Given the description of an element on the screen output the (x, y) to click on. 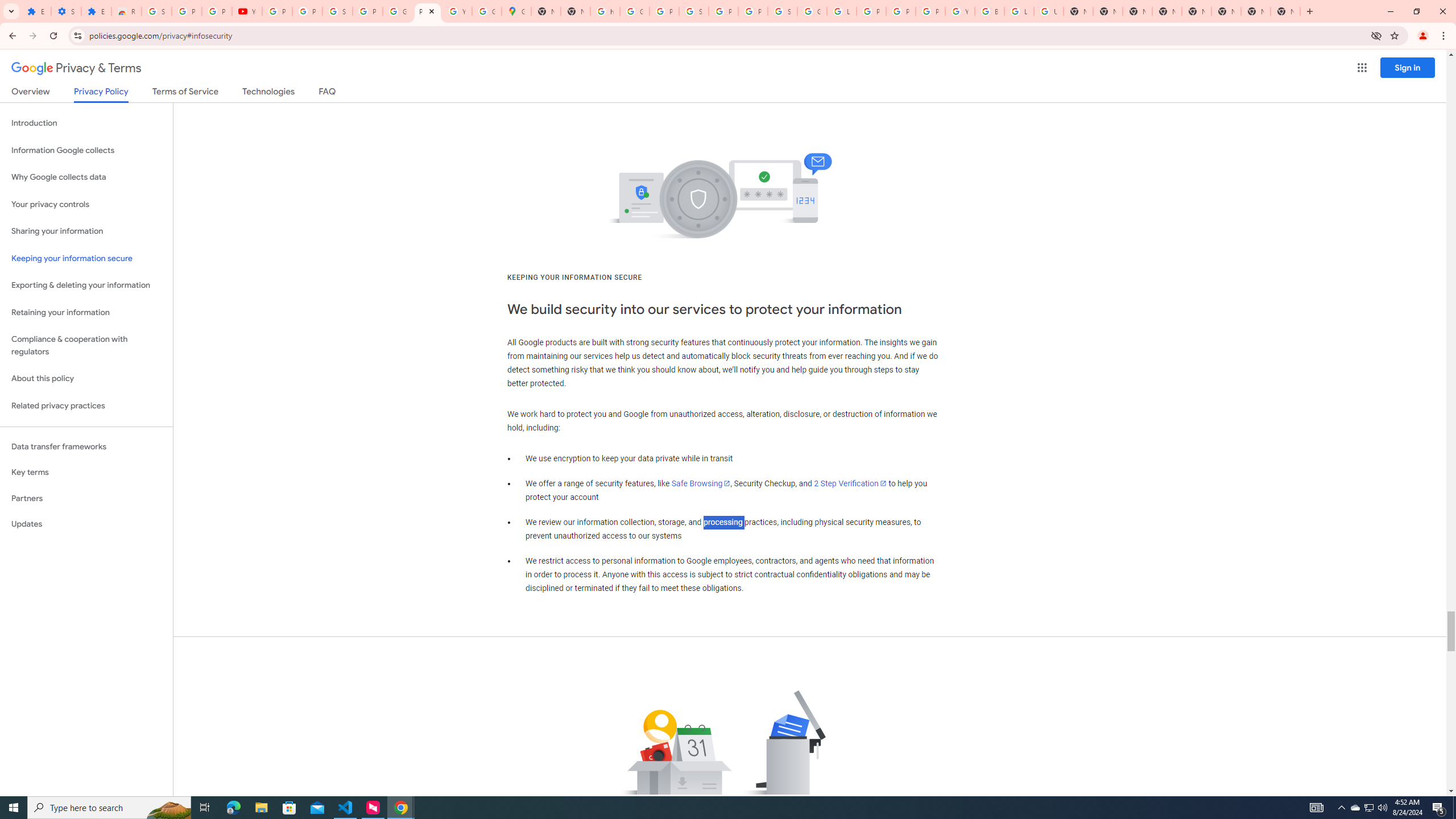
Google Account (397, 11)
